Given the description of an element on the screen output the (x, y) to click on. 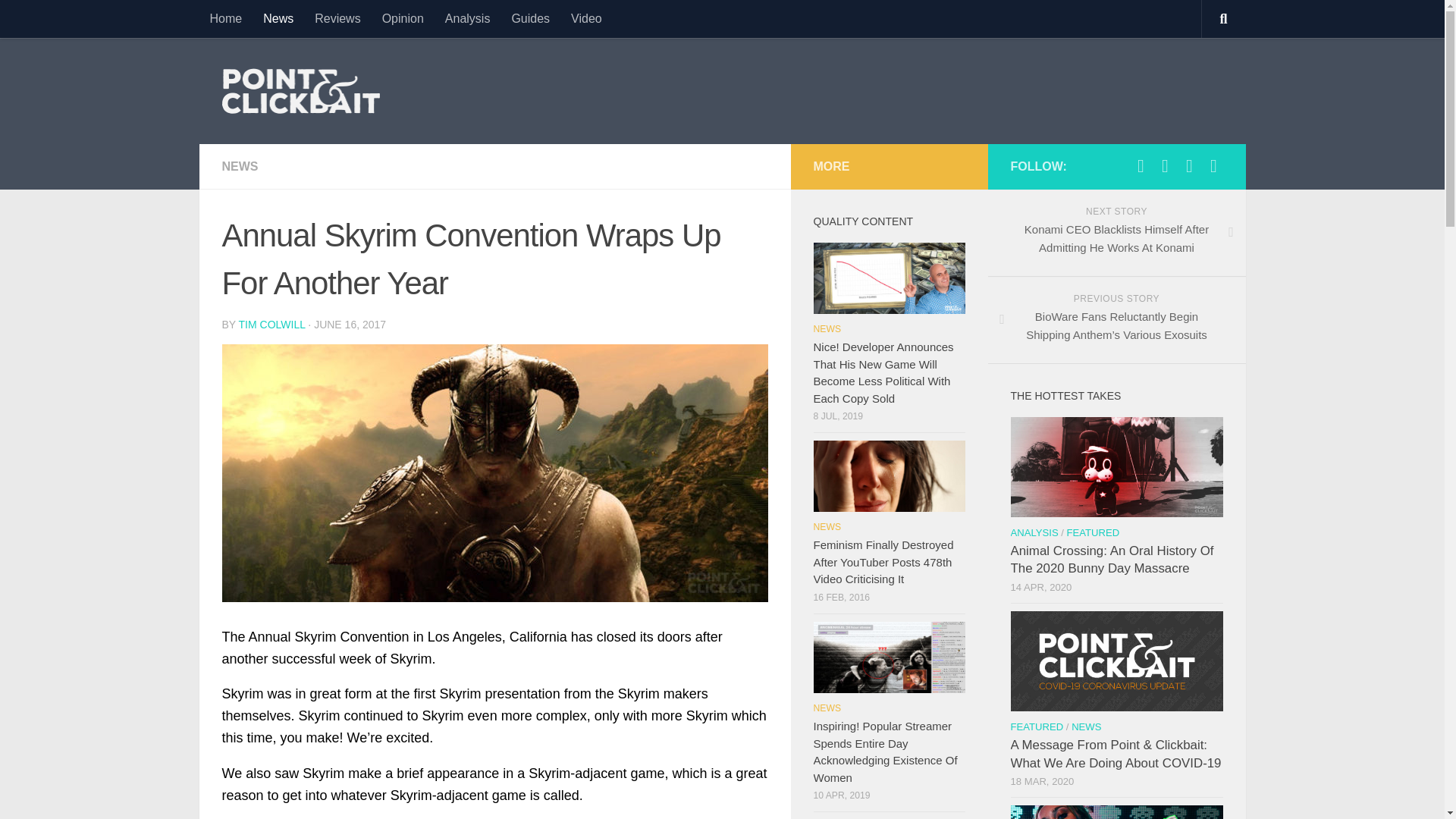
RSS (1164, 166)
Twitter (1140, 166)
Tumblr (1213, 166)
TIM COLWILL (271, 324)
Facebook (1188, 166)
Home (224, 18)
Reviews (337, 18)
Guides (530, 18)
Skip to content (63, 20)
News (277, 18)
Posts by Tim Colwill (271, 324)
NEWS (239, 165)
Video (586, 18)
